Given the description of an element on the screen output the (x, y) to click on. 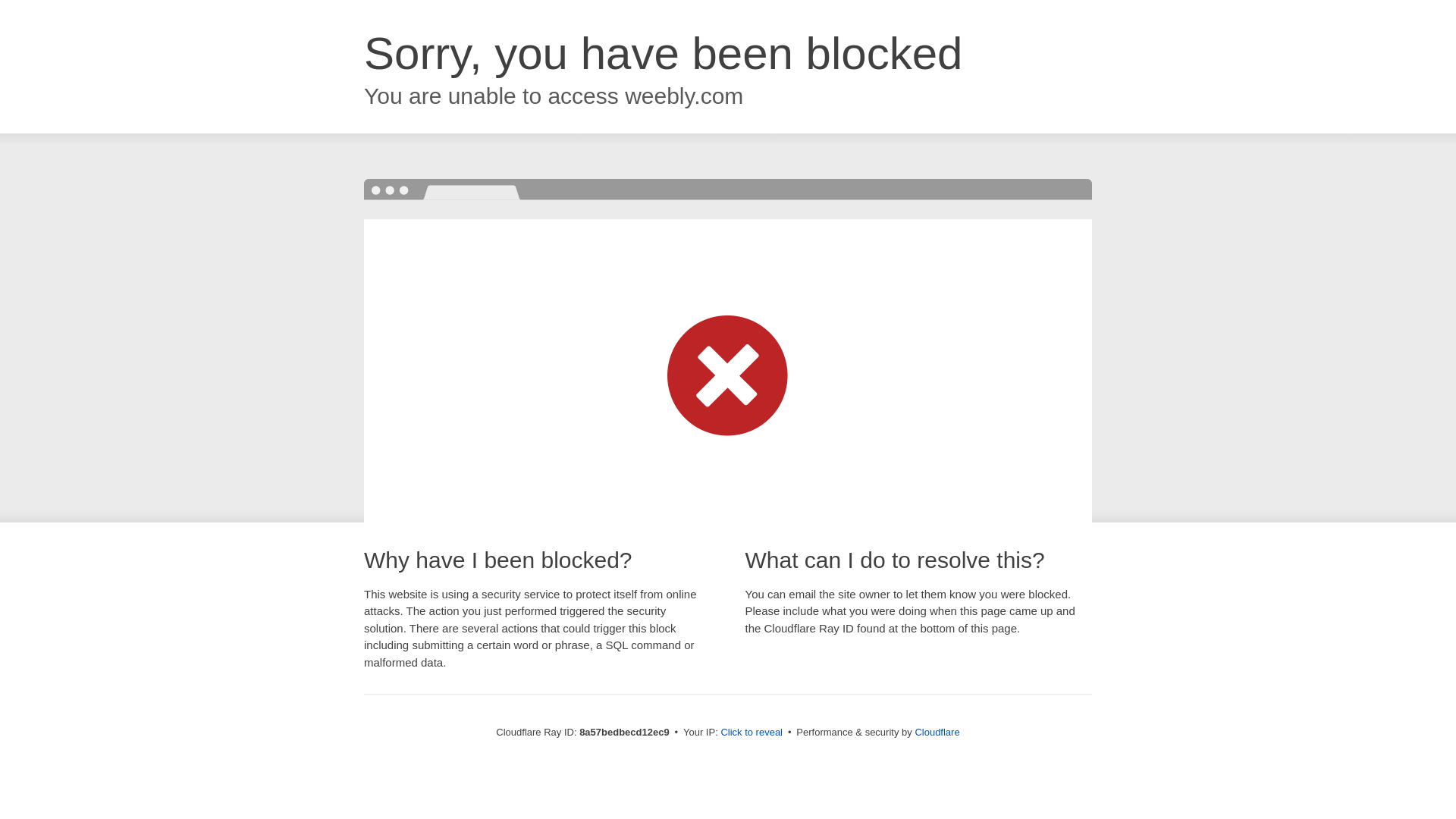
Cloudflare (936, 731)
Click to reveal (751, 732)
